Given the description of an element on the screen output the (x, y) to click on. 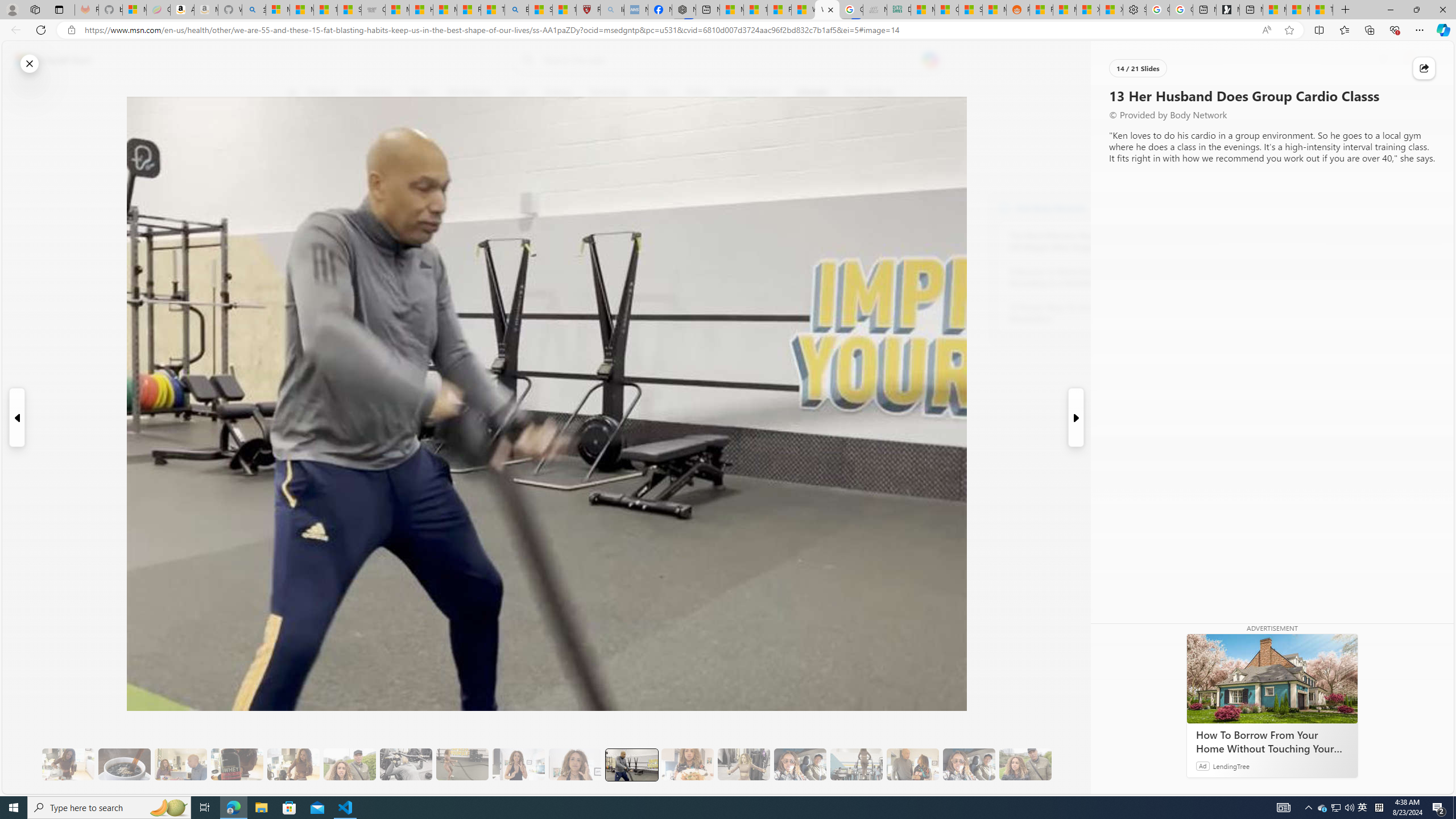
Entertainment (753, 92)
6 Like (299, 138)
8 They Walk to the Gym (349, 764)
These 3 Stocks Pay You More Than 5% to Own Them (1321, 9)
3 They Drink Lemon Tea (68, 764)
